Given the description of an element on the screen output the (x, y) to click on. 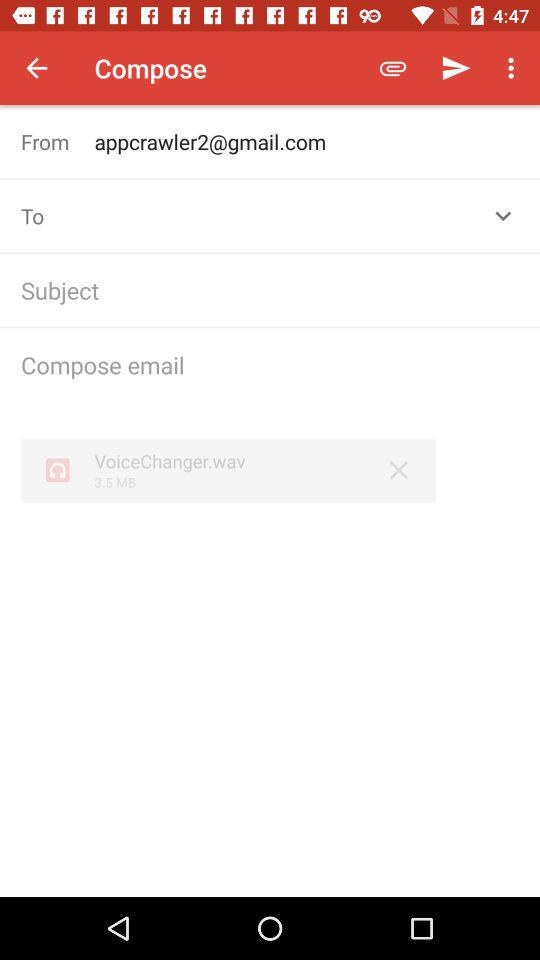
turn off the icon next to compose (392, 67)
